Given the description of an element on the screen output the (x, y) to click on. 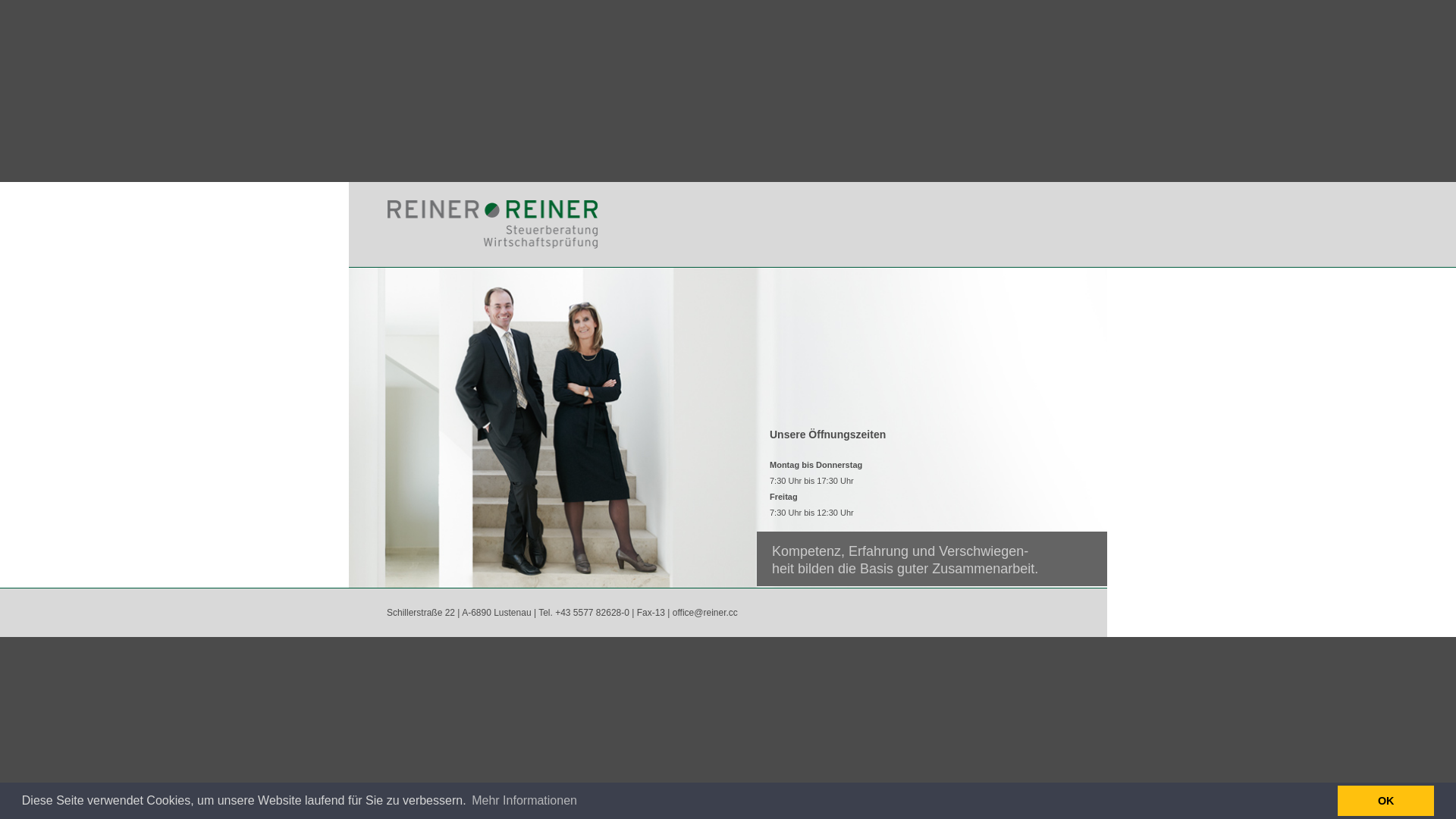
Mehr Informationen Element type: text (524, 800)
office@reiner.cc Element type: text (704, 612)
OK Element type: text (1385, 800)
